Given the description of an element on the screen output the (x, y) to click on. 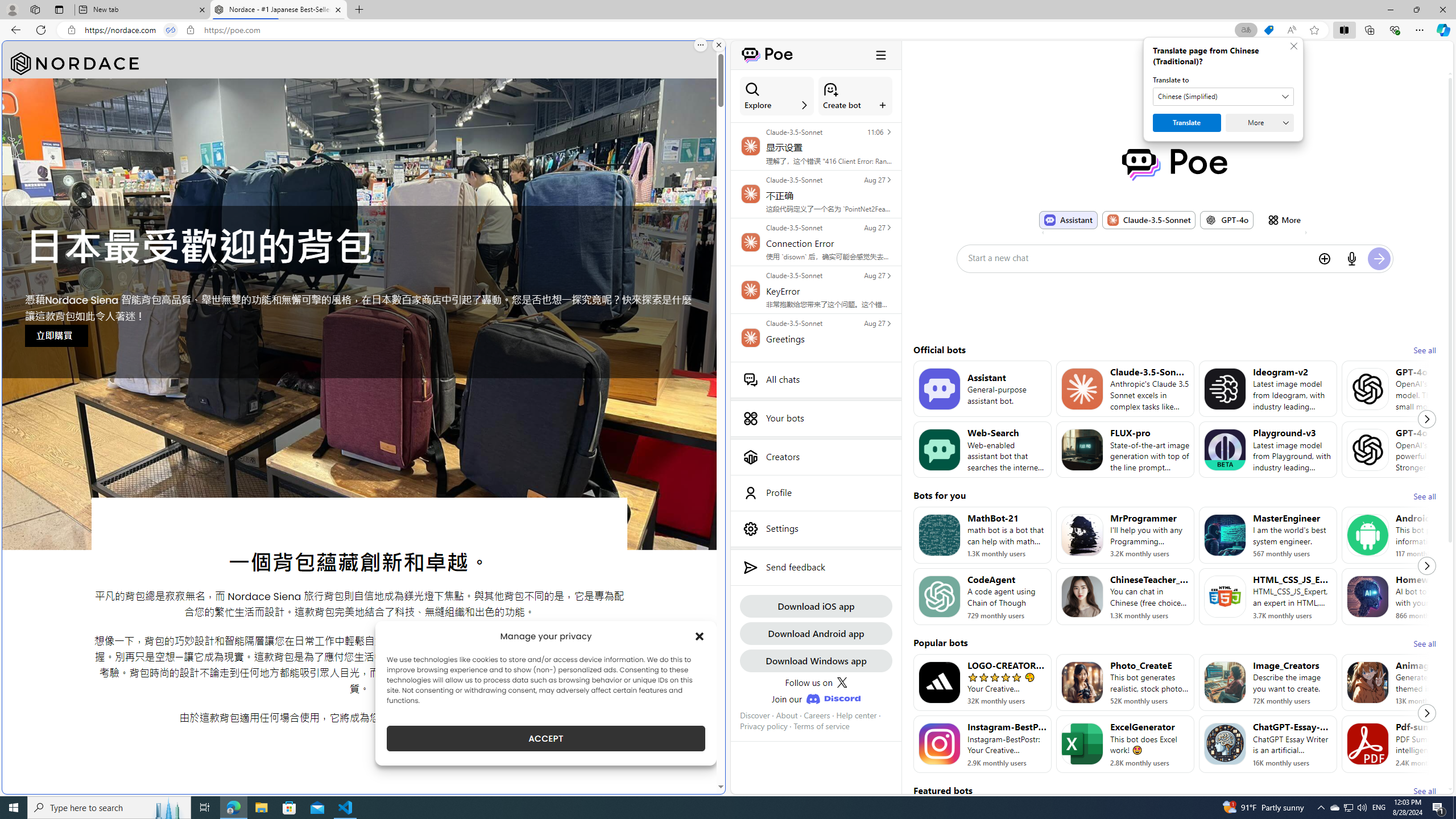
Careers (816, 714)
Bot image for HTML_CSS_JS_Expert (1224, 596)
Toggle sidebar collapse (880, 54)
Privacy policy (763, 726)
Class: FollowTwitterLink_twitterIconBlack__SS_7V (842, 682)
